Given the description of an element on the screen output the (x, y) to click on. 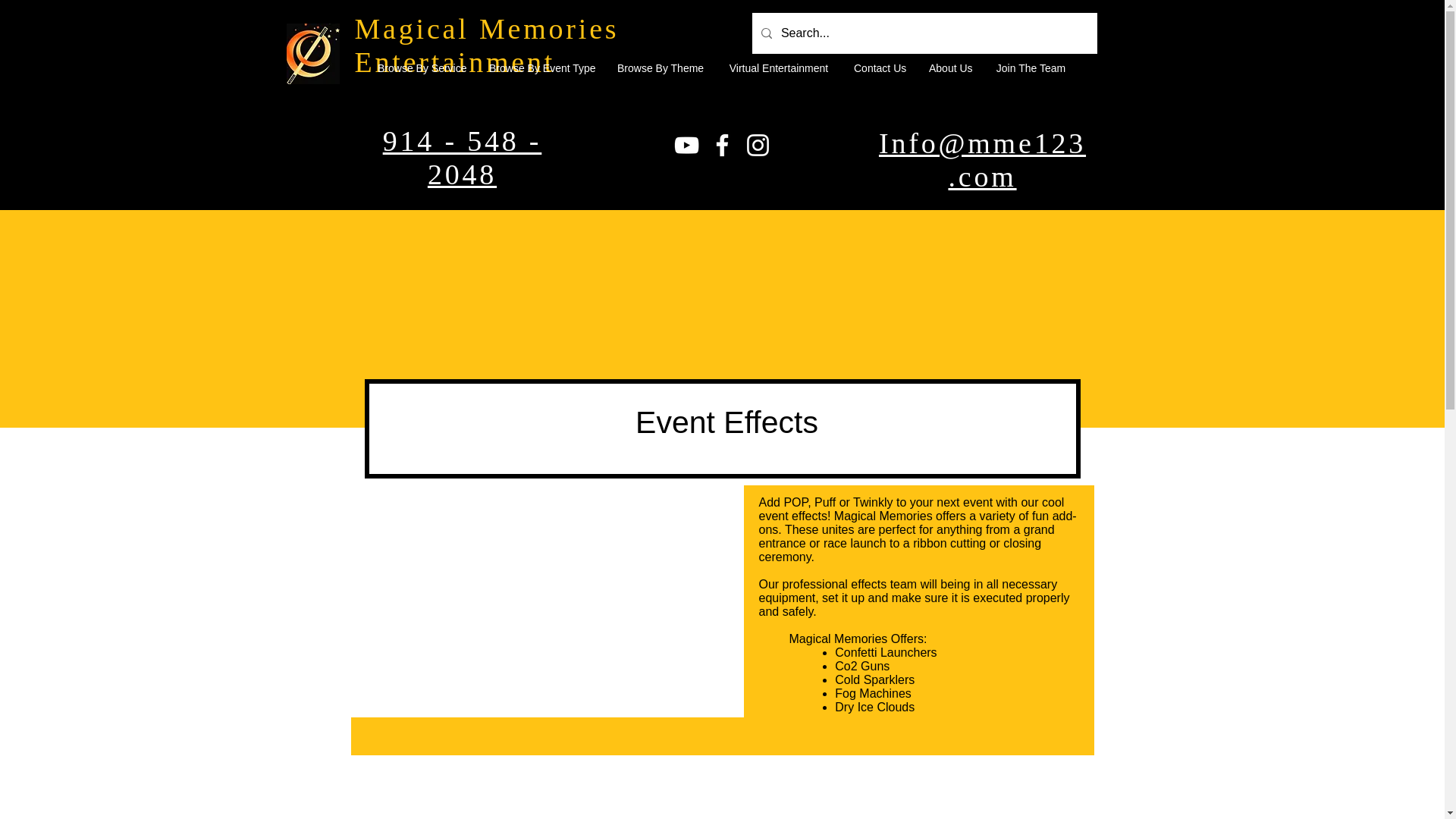
About Us (950, 68)
Contact Us (880, 68)
Magical Memories Entertainment (487, 45)
Browse By Event Type (541, 68)
914 - 548 - 2048 (461, 157)
Browse By Service (421, 68)
Join The Team (1031, 68)
Browse By Theme (659, 68)
